Given the description of an element on the screen output the (x, y) to click on. 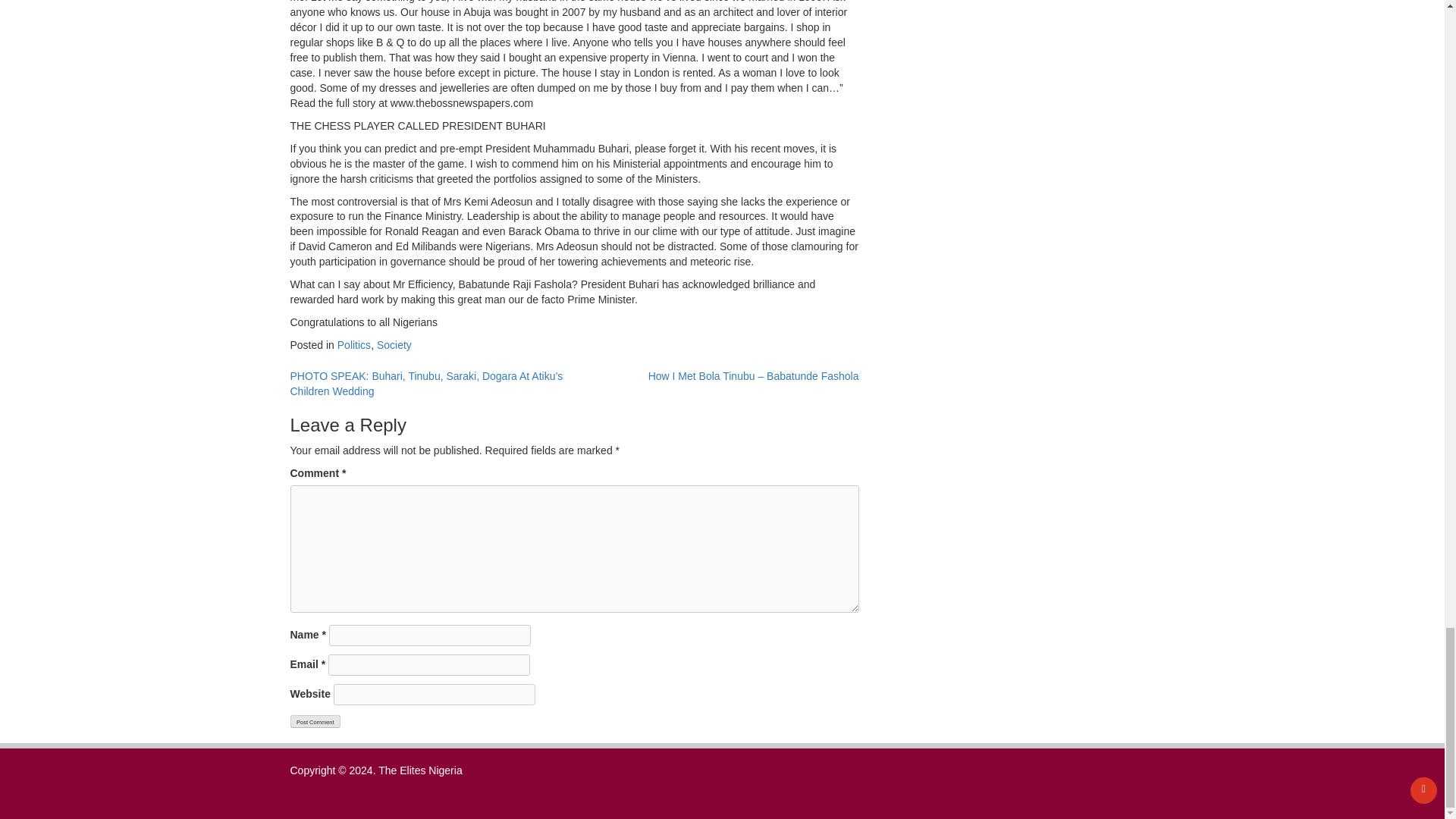
Society (394, 345)
Post Comment (314, 721)
Post Comment (314, 721)
Politics (354, 345)
